Given the description of an element on the screen output the (x, y) to click on. 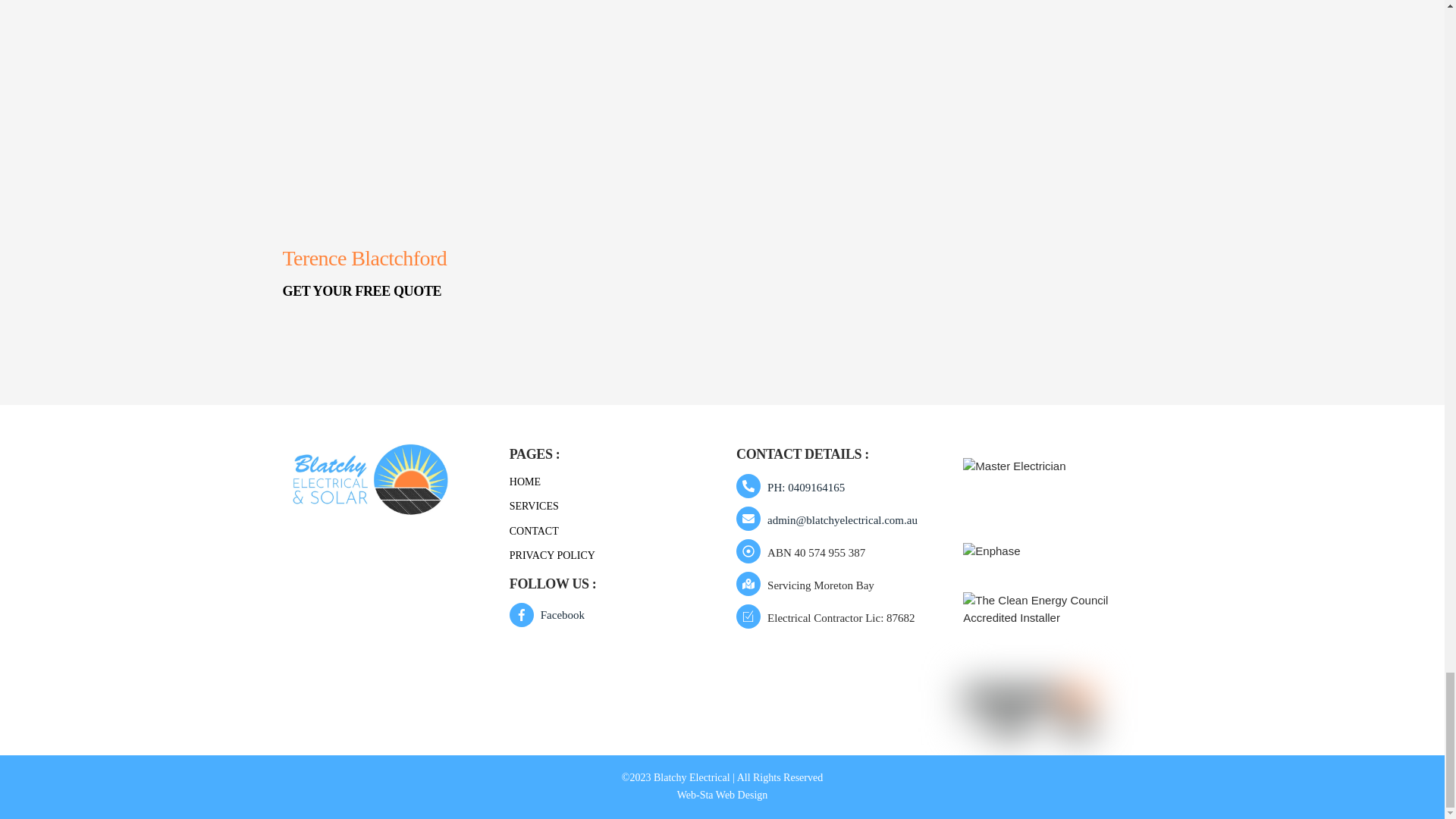
HOME (524, 481)
Facebook (550, 614)
PH: 0409164165 (793, 488)
CONTACT (534, 531)
SERVICES (534, 505)
PRIVACY POLICY (552, 555)
Web-Sta Web Design (722, 794)
Services (1027, 704)
